Given the description of an element on the screen output the (x, y) to click on. 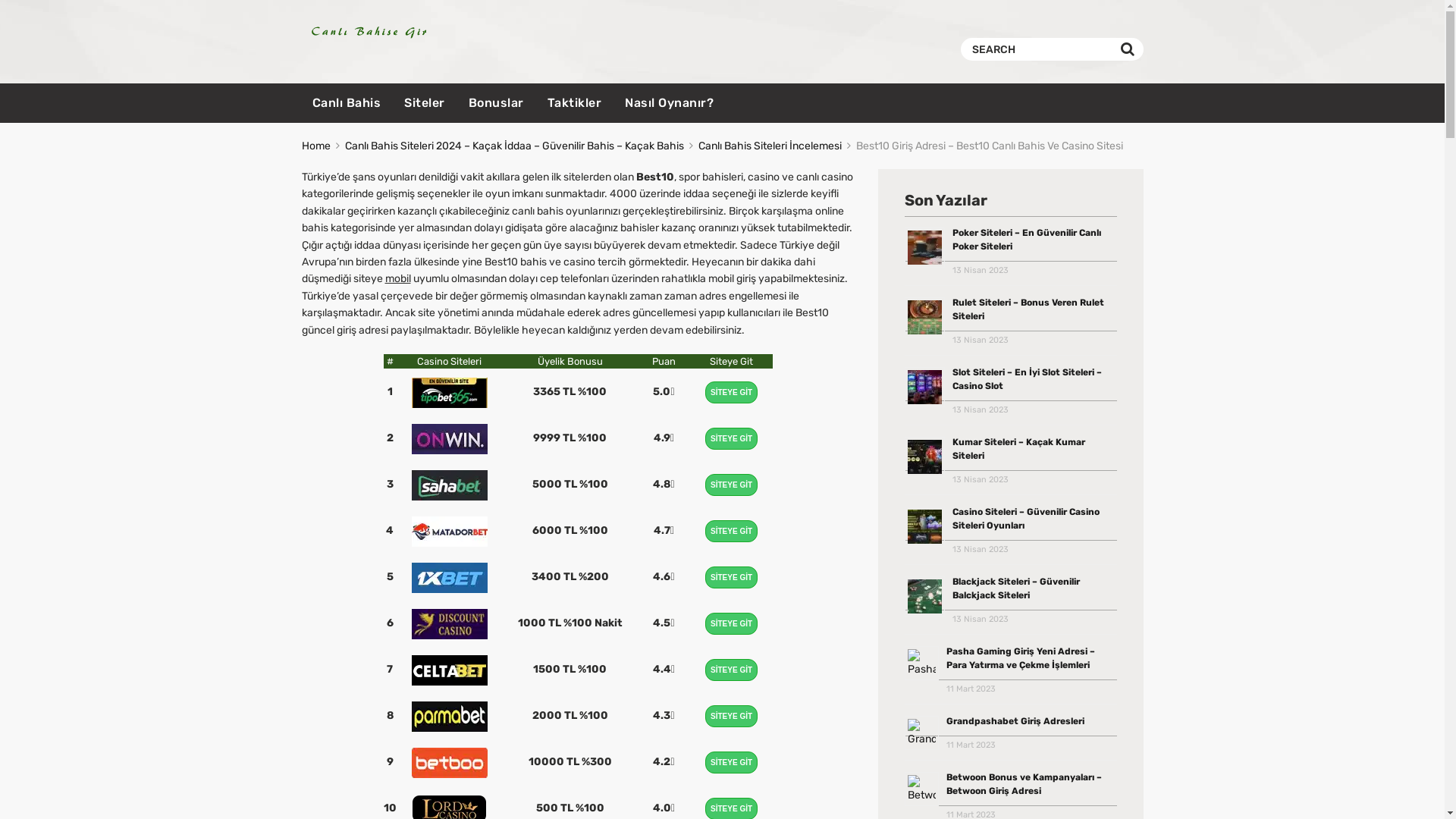
Siteler Element type: text (424, 102)
Taktikler Element type: text (574, 102)
Home Element type: text (315, 145)
Bonuslar Element type: text (496, 102)
mobil Element type: text (398, 278)
